Given the description of an element on the screen output the (x, y) to click on. 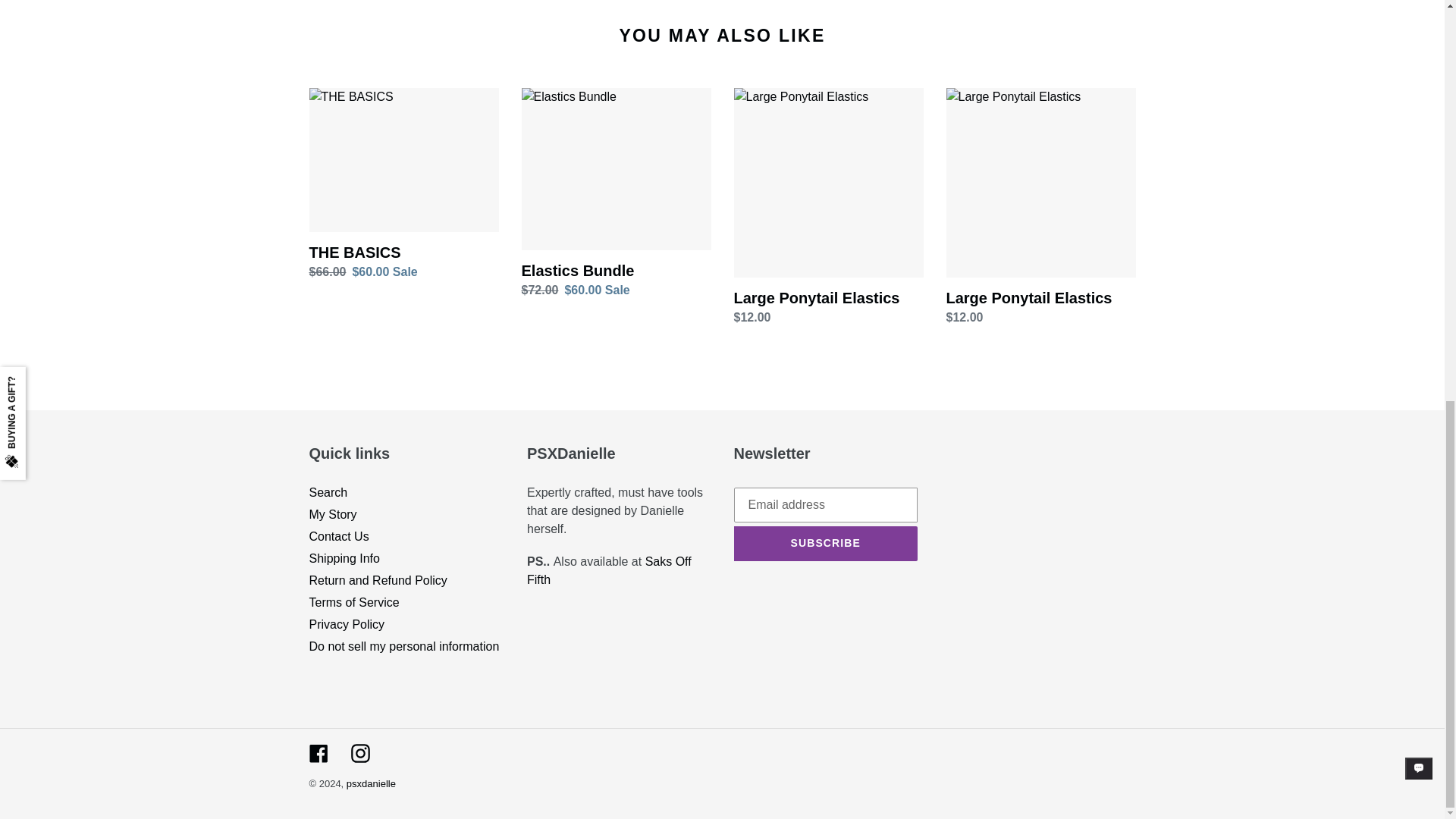
Shopify online store chat (1418, 10)
Elastics Bundle (616, 192)
THE BASICS (403, 183)
